Given the description of an element on the screen output the (x, y) to click on. 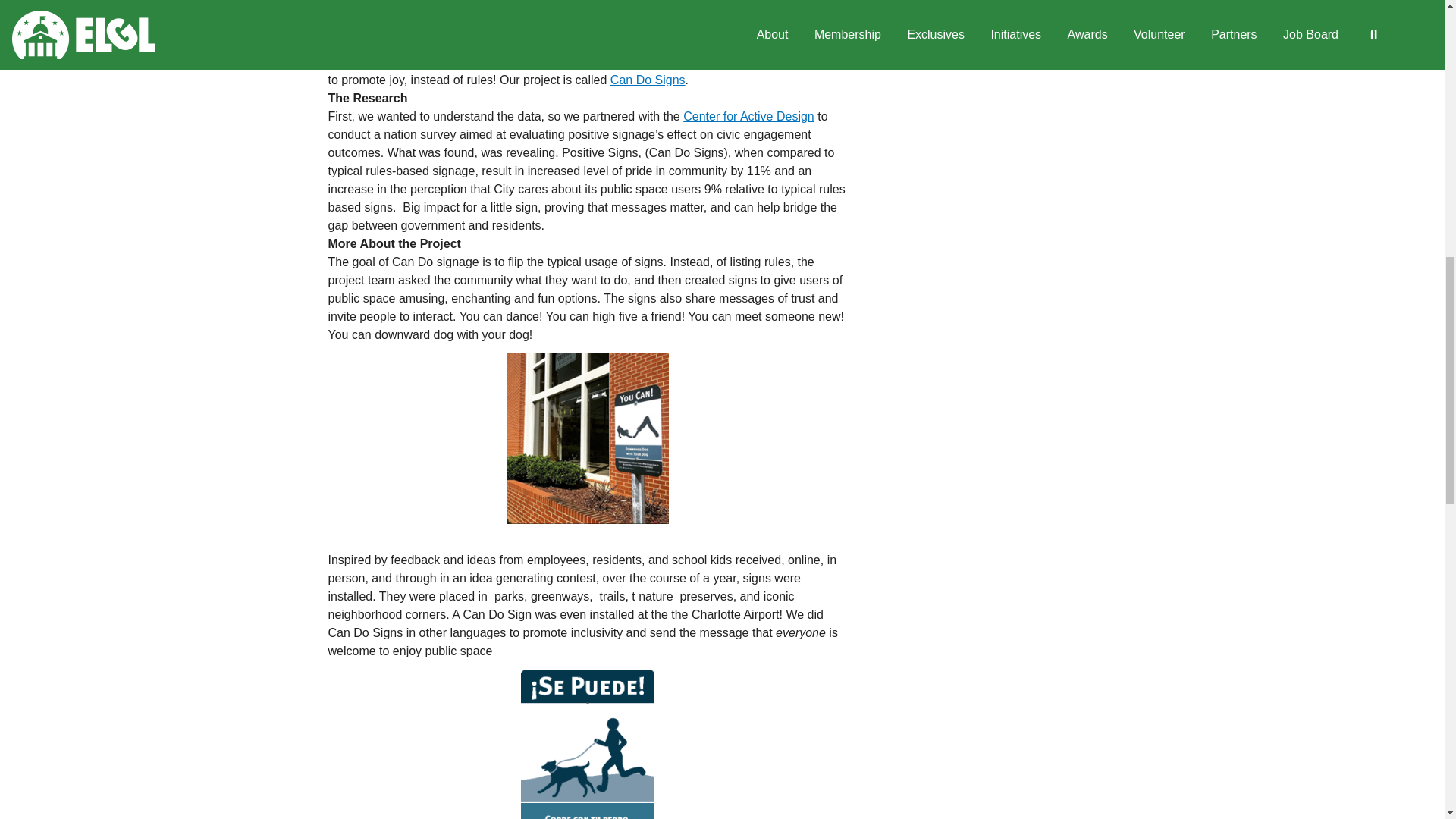
Center for Active Design (747, 115)
Knight Foundation (376, 61)
Can Do Signs (647, 79)
